Given the description of an element on the screen output the (x, y) to click on. 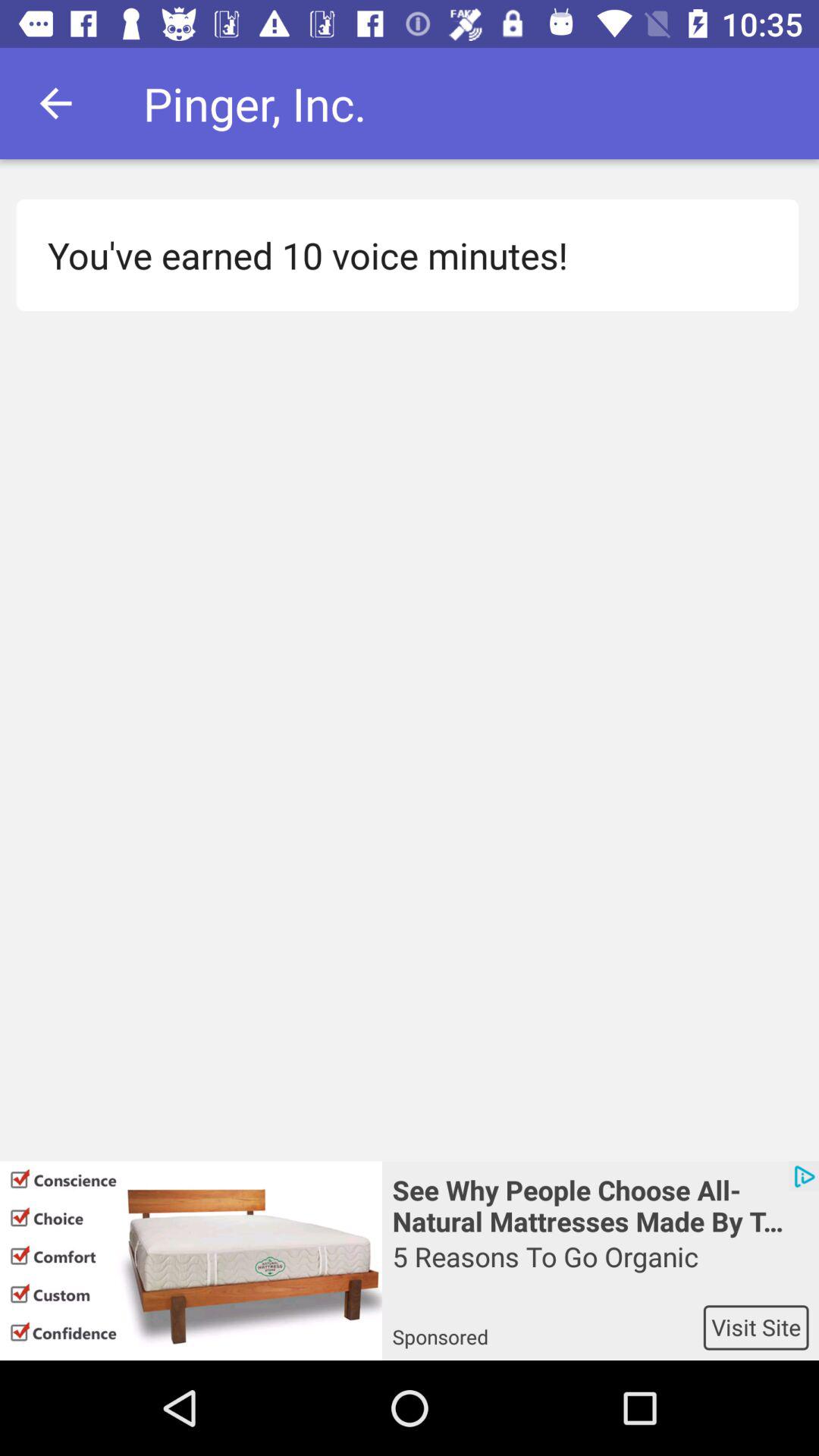
flip until 5 reasons to (600, 1271)
